Given the description of an element on the screen output the (x, y) to click on. 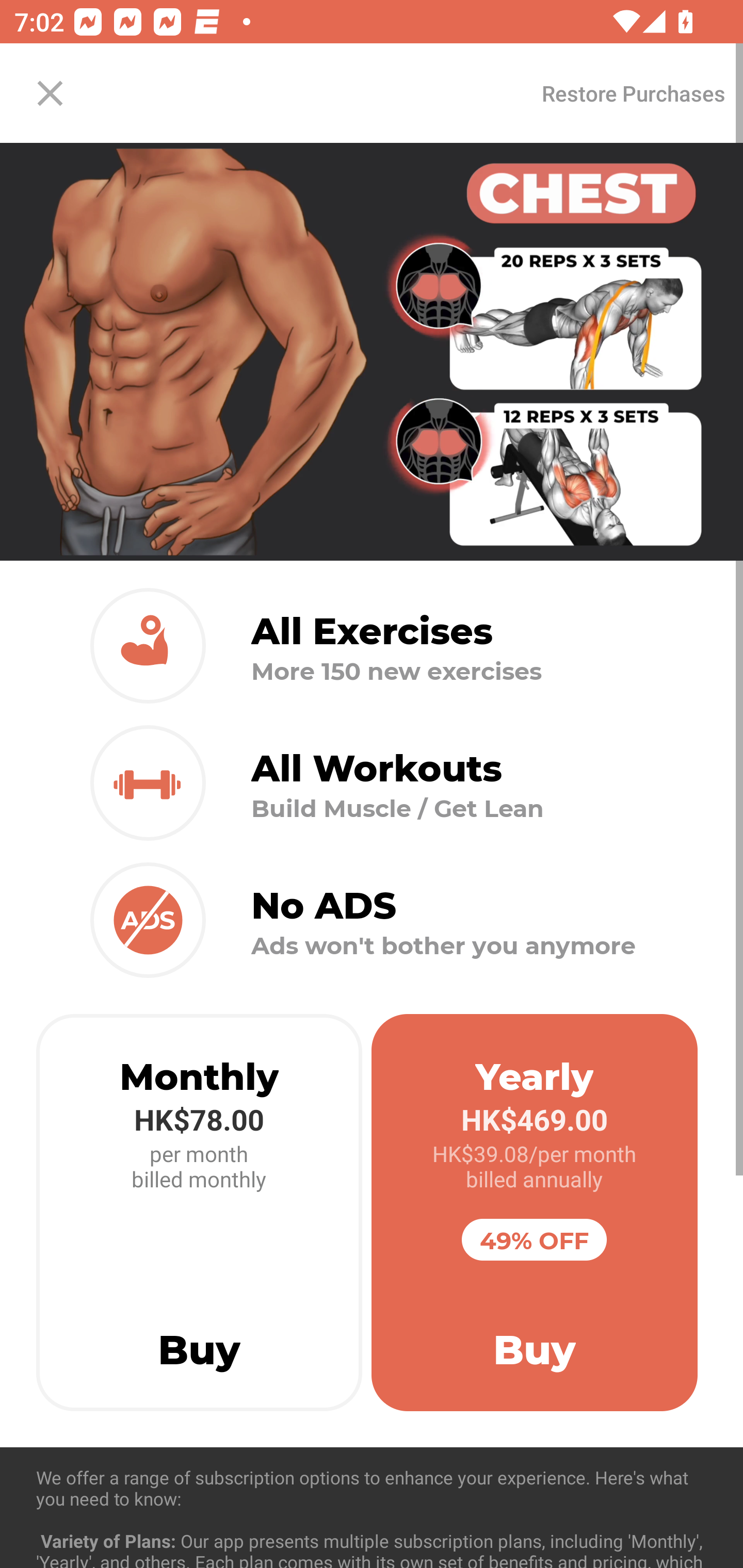
Restore Purchases (632, 92)
Monthly HK$78.00 per month
billed monthly Buy (199, 1212)
